Given the description of an element on the screen output the (x, y) to click on. 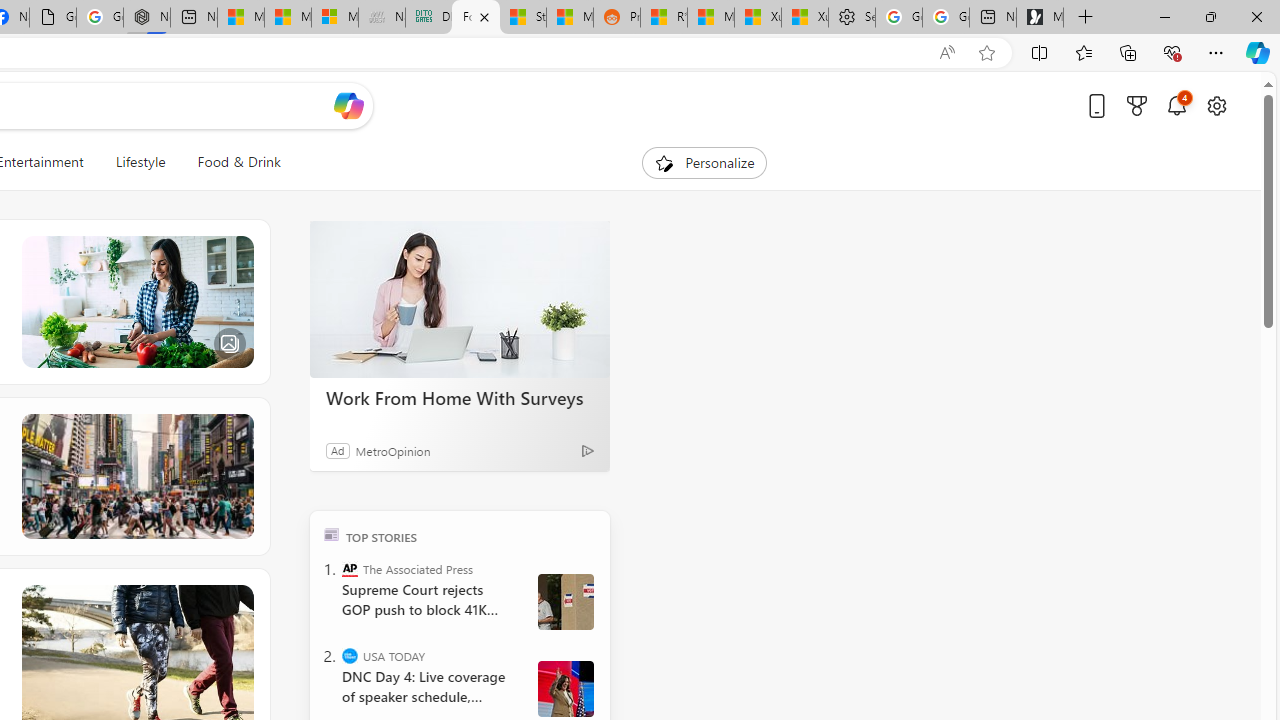
Personalize (703, 162)
Lifestyle (140, 162)
Work From Home With Surveys (459, 397)
Lifestyle (139, 162)
USA TODAY (349, 655)
MSN (569, 17)
